Given the description of an element on the screen output the (x, y) to click on. 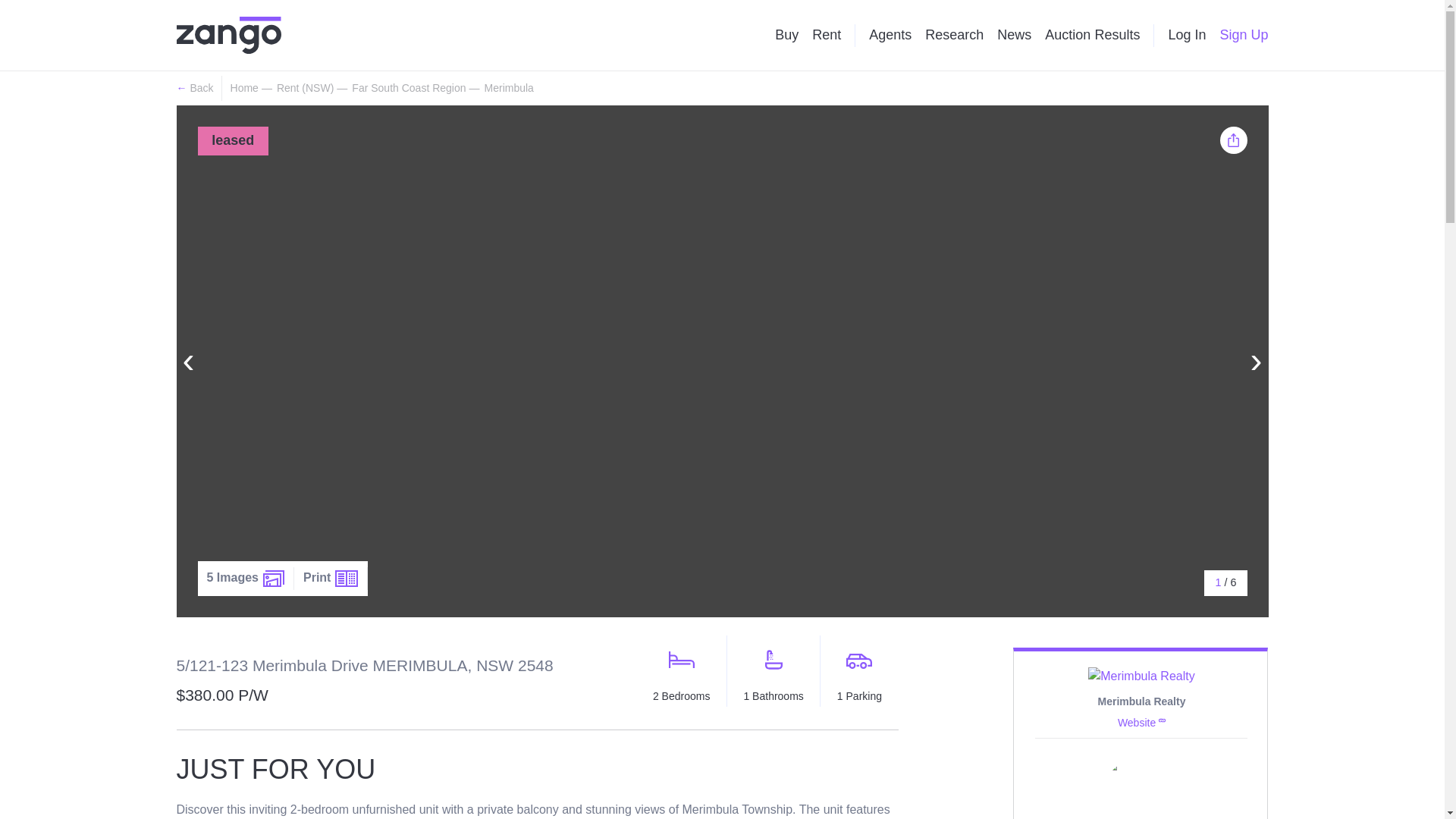
Zango Logo (228, 35)
Car Icon (858, 660)
Bed Icon (681, 659)
Property images icon (273, 578)
Buy (785, 35)
5 ImagesProperty images icon (245, 578)
PrintProperty brochure icon (331, 578)
Agents (890, 35)
Zango Logo (228, 35)
News (1013, 35)
